Given the description of an element on the screen output the (x, y) to click on. 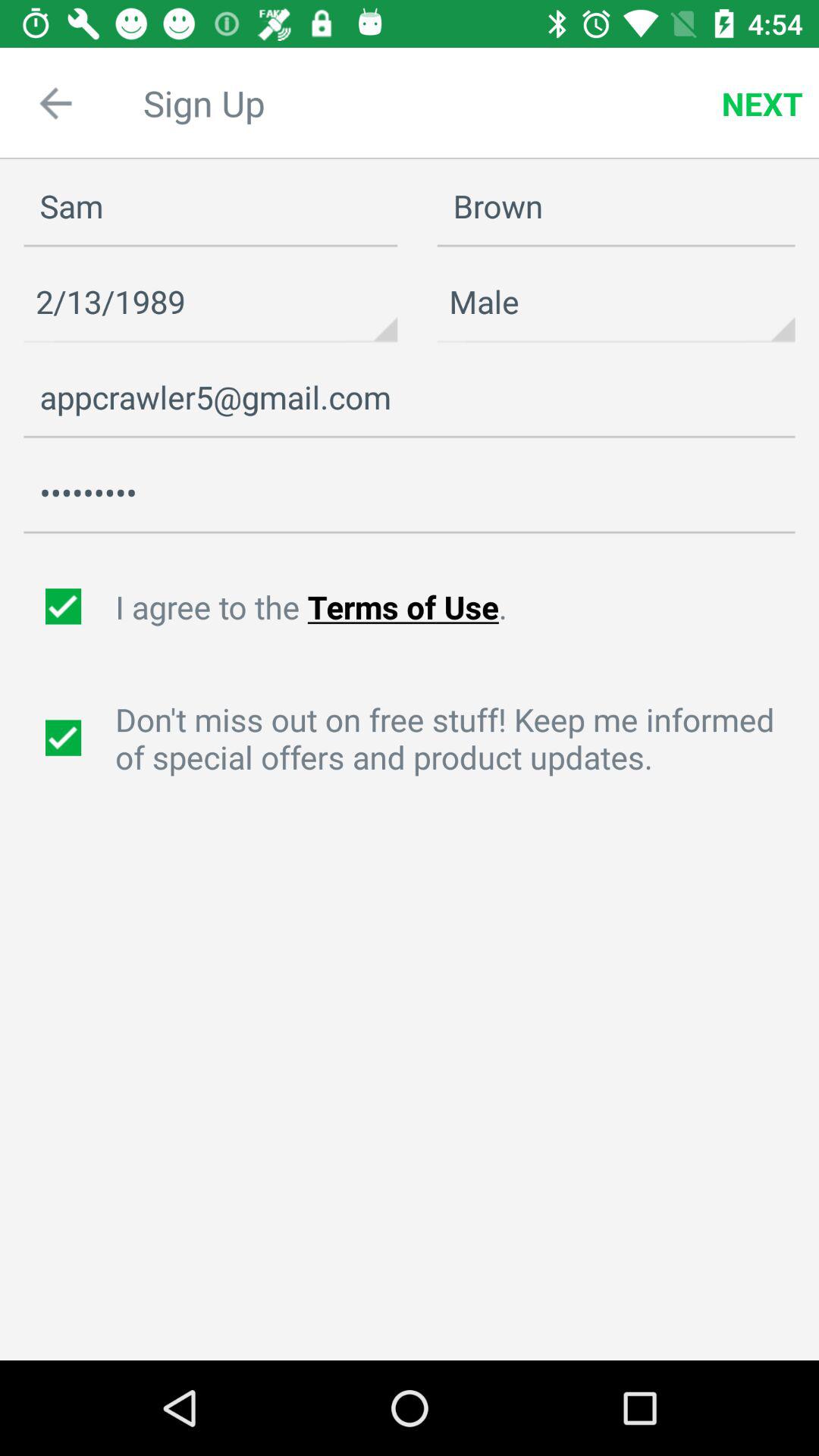
click item next to the sam icon (616, 302)
